Given the description of an element on the screen output the (x, y) to click on. 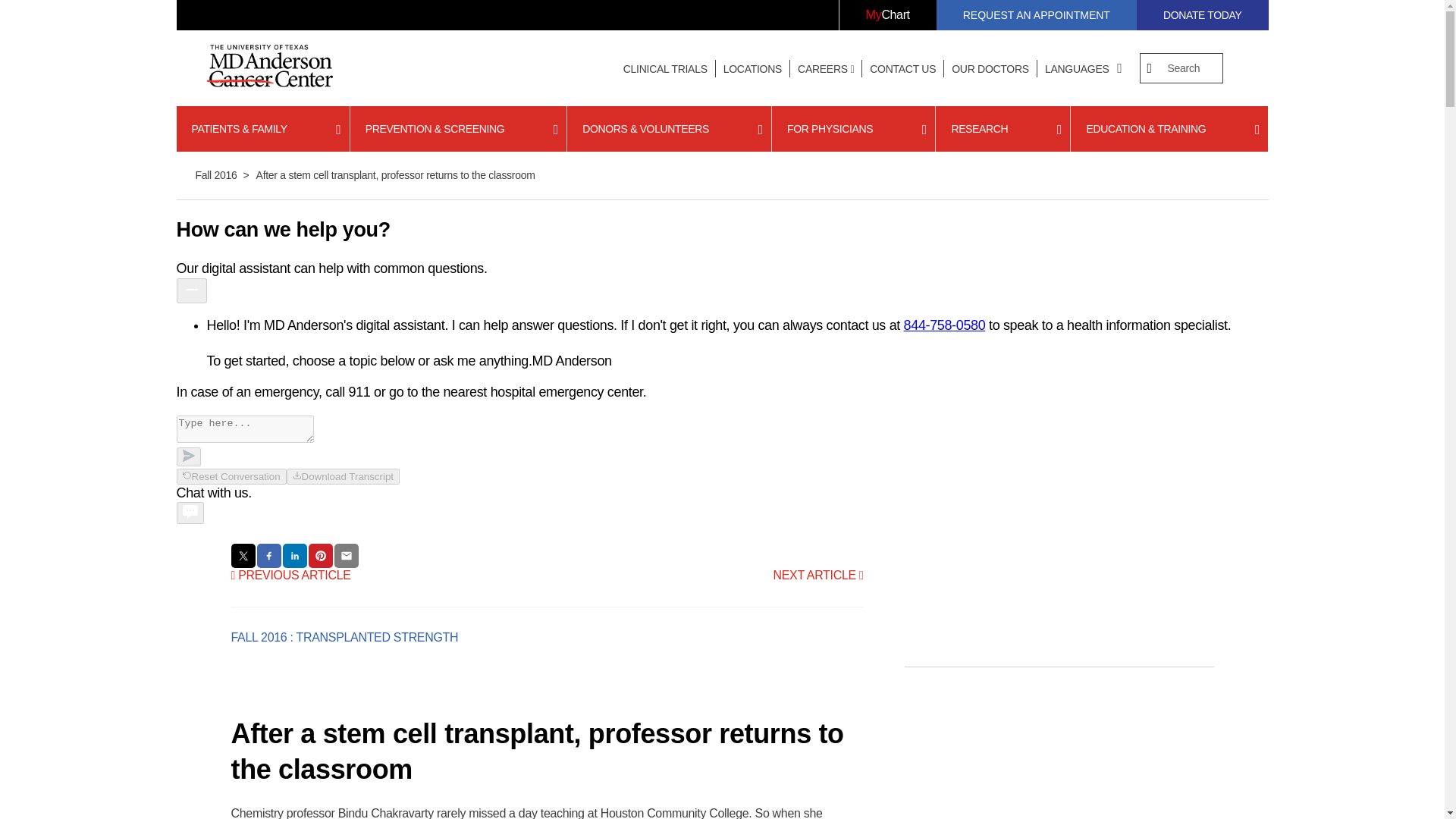
LOCATIONS (752, 69)
MyChart (888, 15)
CLINICAL TRIALS (664, 69)
OUR DOCTORS (989, 69)
CAREERS (825, 69)
 Opens a new window (888, 15)
CONTACT US (902, 69)
